Given the description of an element on the screen output the (x, y) to click on. 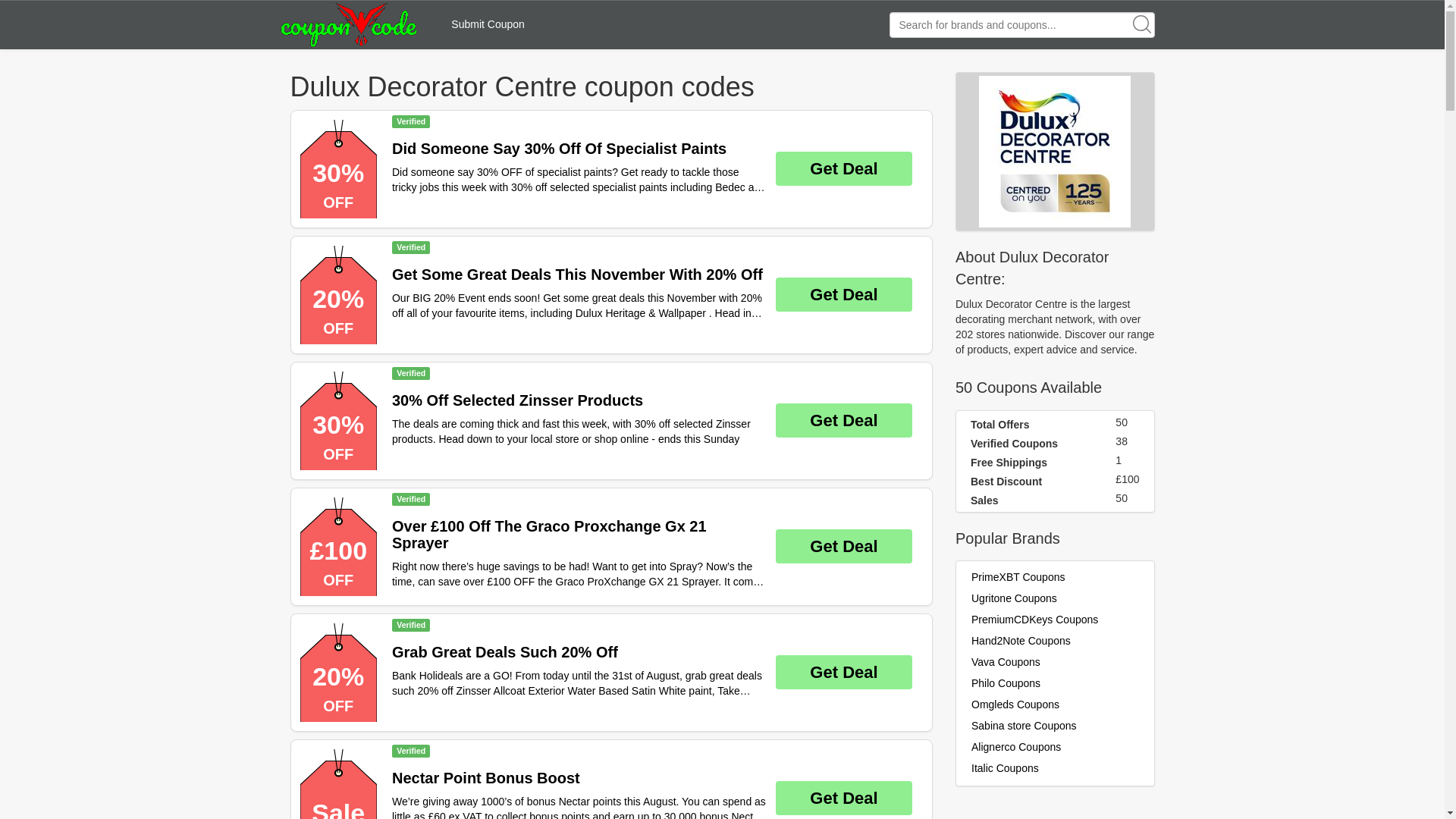
Sale (338, 784)
Get Deal (844, 672)
Get Deal (844, 168)
Get Deal (844, 420)
Get Deal (844, 797)
Get Deal (844, 294)
Submit Coupon (487, 24)
Get Deal (844, 546)
